Given the description of an element on the screen output the (x, y) to click on. 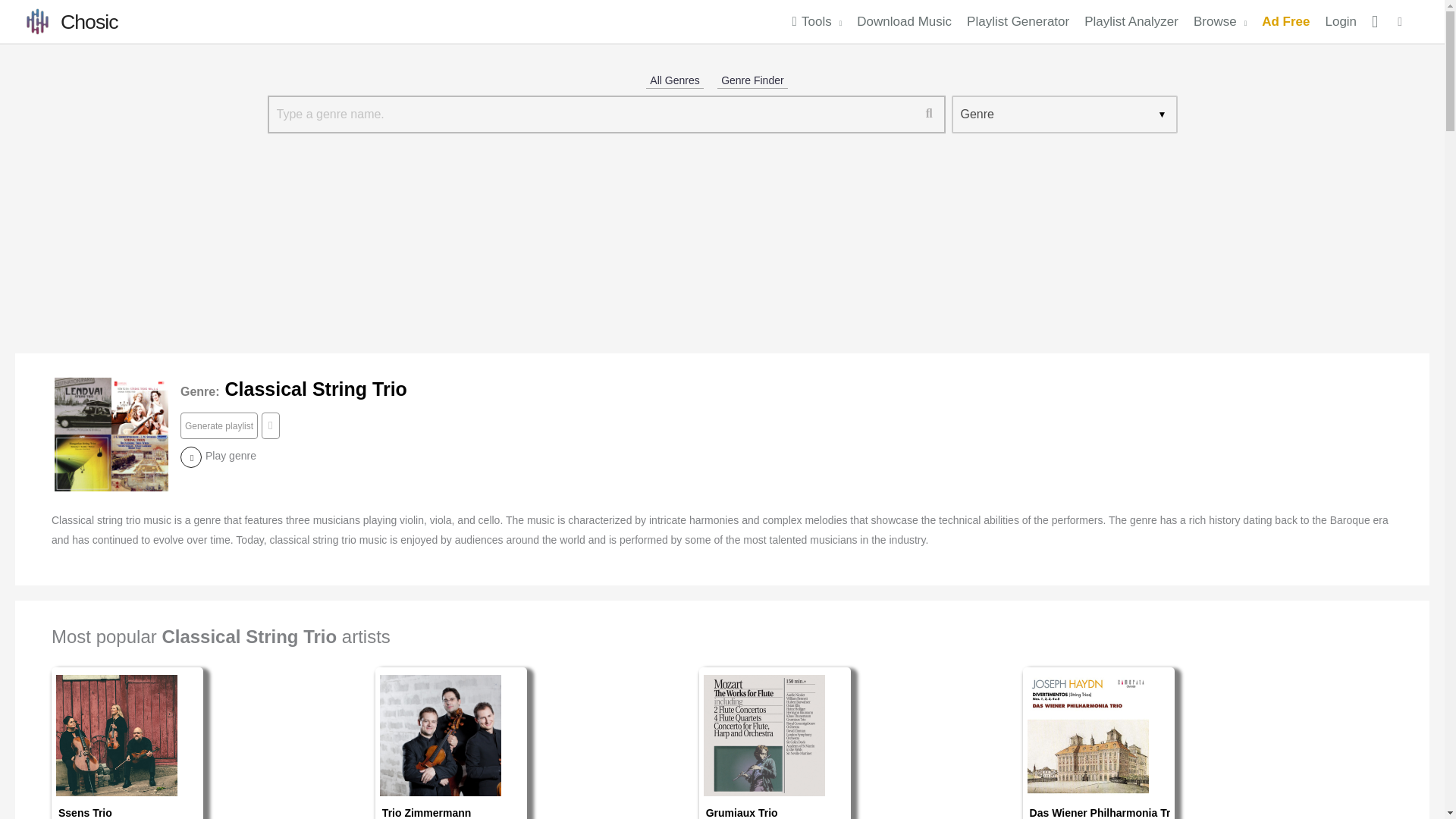
Tools (816, 21)
Playlist Generator (1018, 21)
Playlist Analyzer (1131, 21)
Download Music (903, 21)
Browse (1219, 21)
Chosic (89, 21)
